Given the description of an element on the screen output the (x, y) to click on. 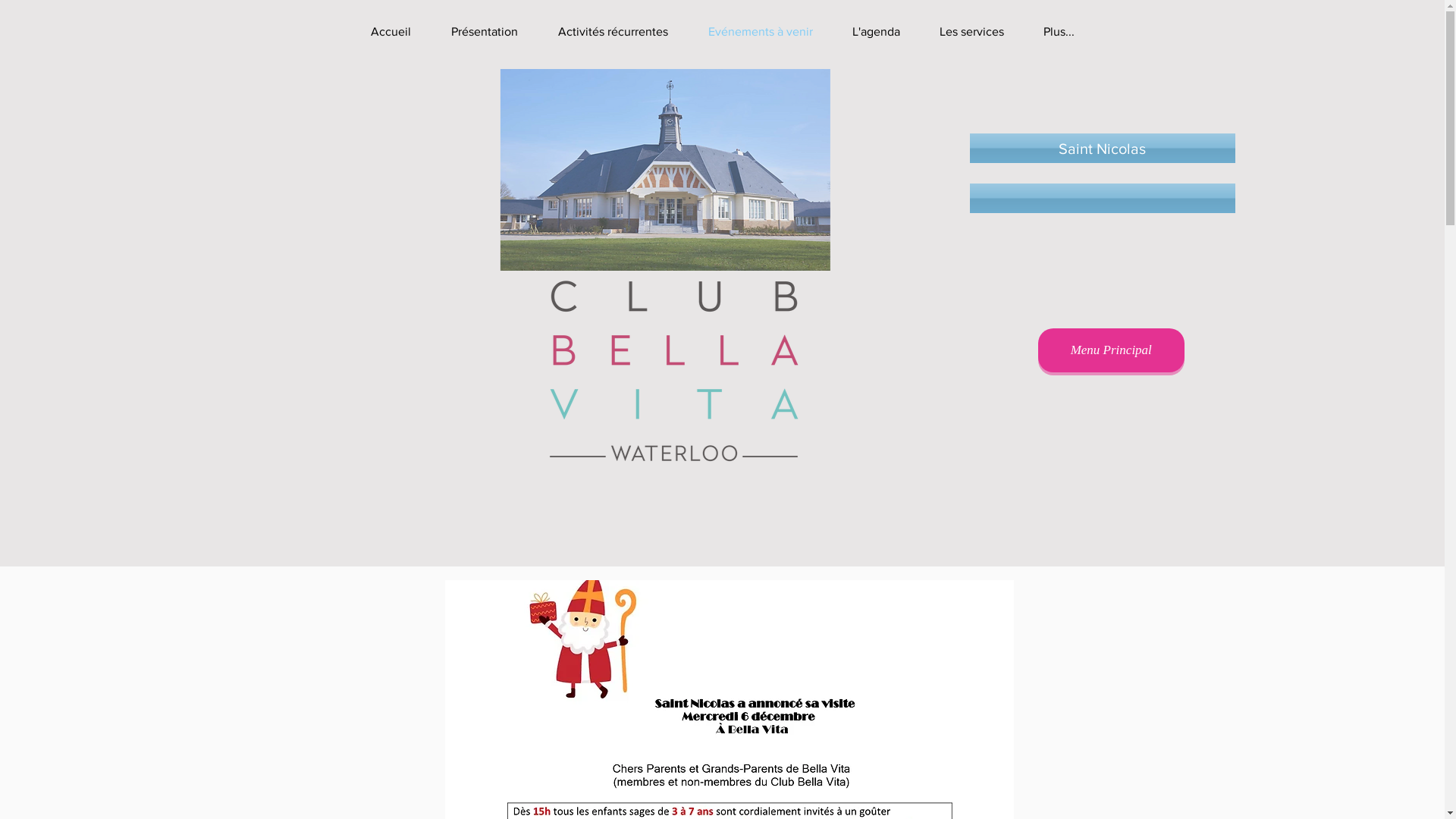
L'agenda Element type: text (875, 31)
Saint Nicolas Element type: text (1102, 148)
Menu Principal Element type: text (1111, 350)
Les services Element type: text (970, 31)
Accueil Element type: text (390, 31)
